Given the description of an element on the screen output the (x, y) to click on. 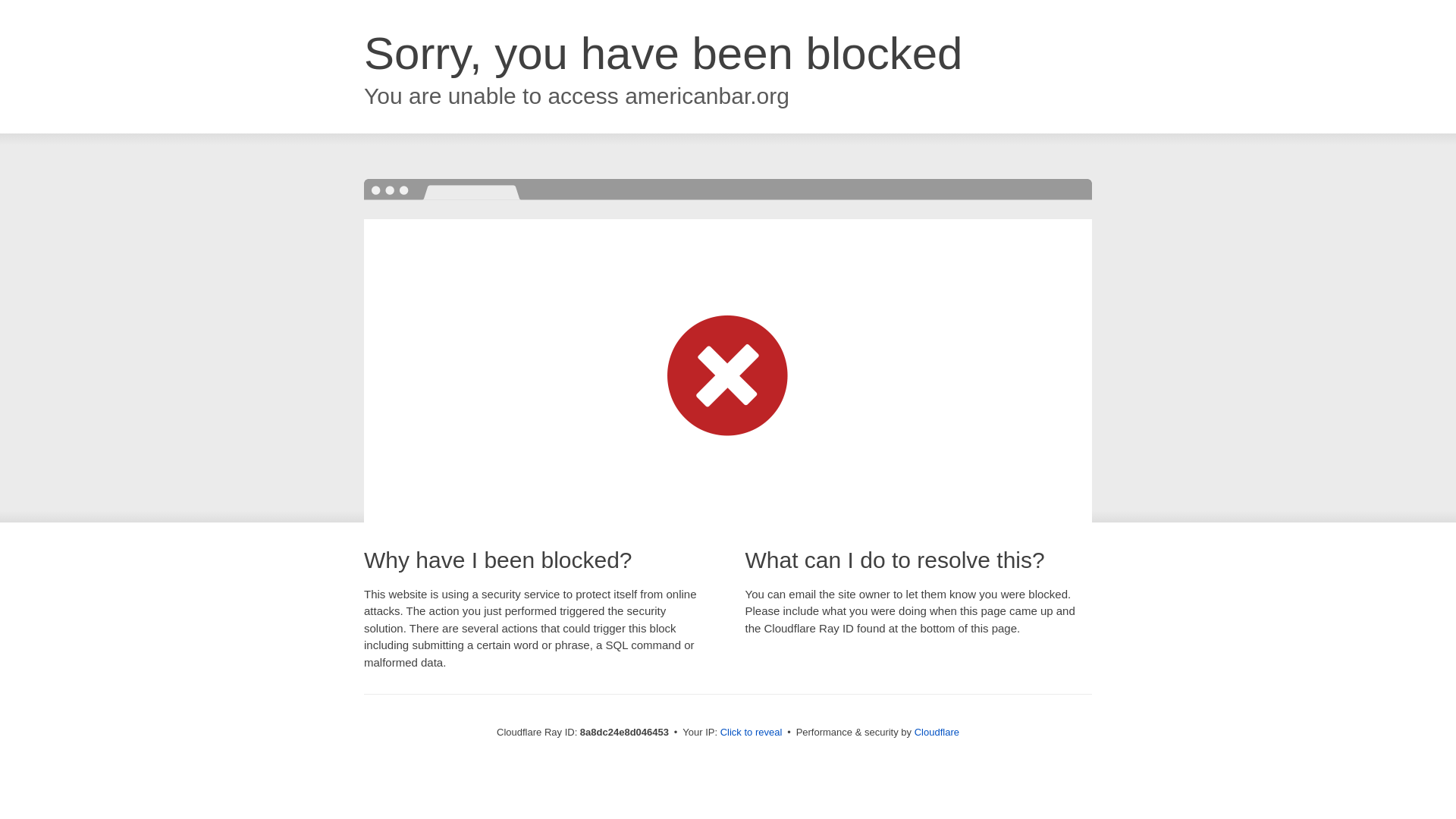
Cloudflare (936, 731)
Click to reveal (751, 732)
